Given the description of an element on the screen output the (x, y) to click on. 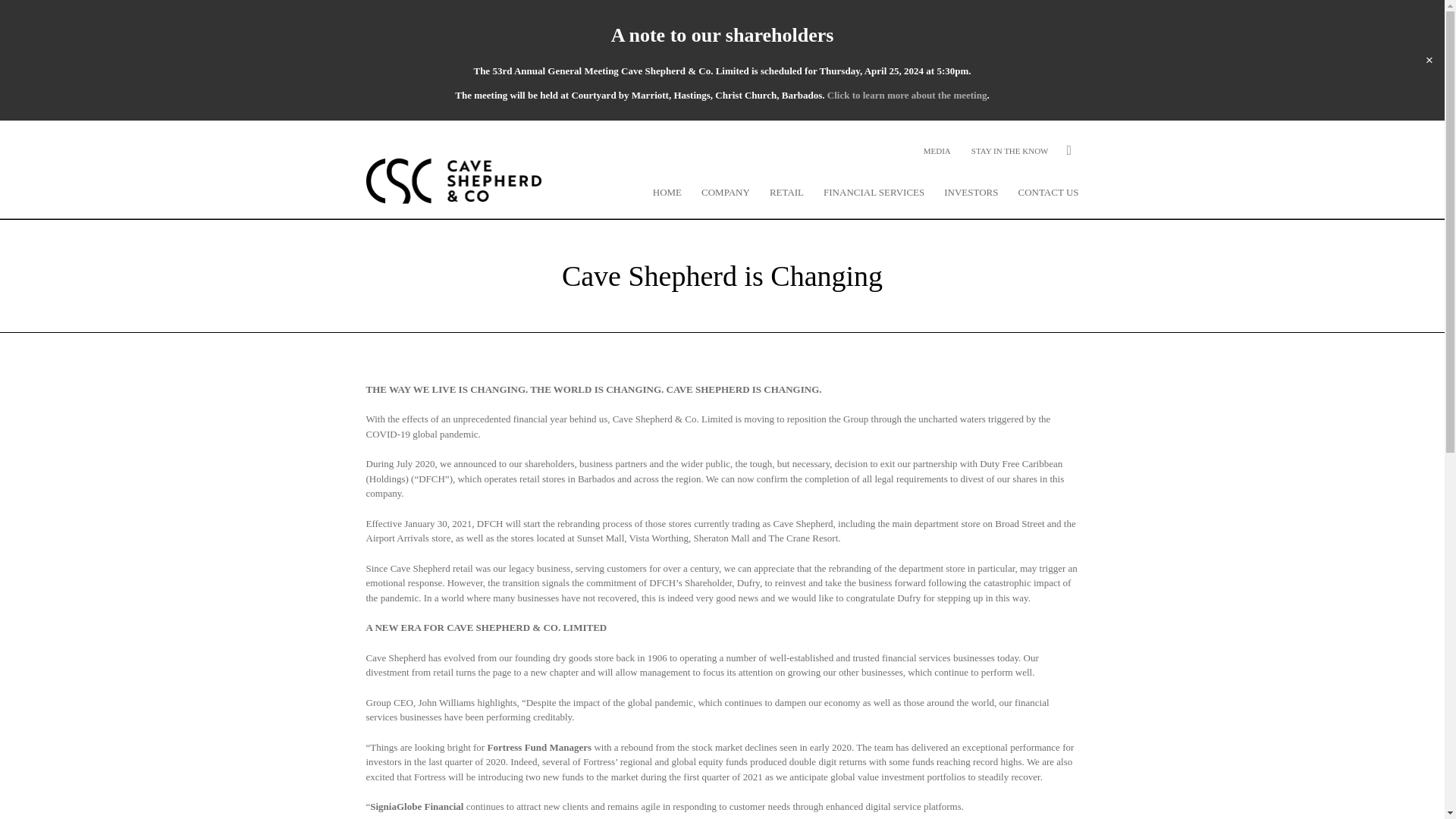
Contact Us (1047, 192)
HOME (666, 192)
MEDIA (937, 150)
STAY IN THE KNOW (1009, 150)
Company (725, 192)
Home (666, 192)
INVESTORS (970, 192)
CONTACT US (1047, 192)
FINANCIAL SERVICES (874, 192)
COMPANY (725, 192)
Financial Services (874, 192)
Click to learn more (907, 94)
Retail (786, 192)
Join Us On LinkedIn (1068, 150)
Click to learn more about the meeting (907, 94)
